Given the description of an element on the screen output the (x, y) to click on. 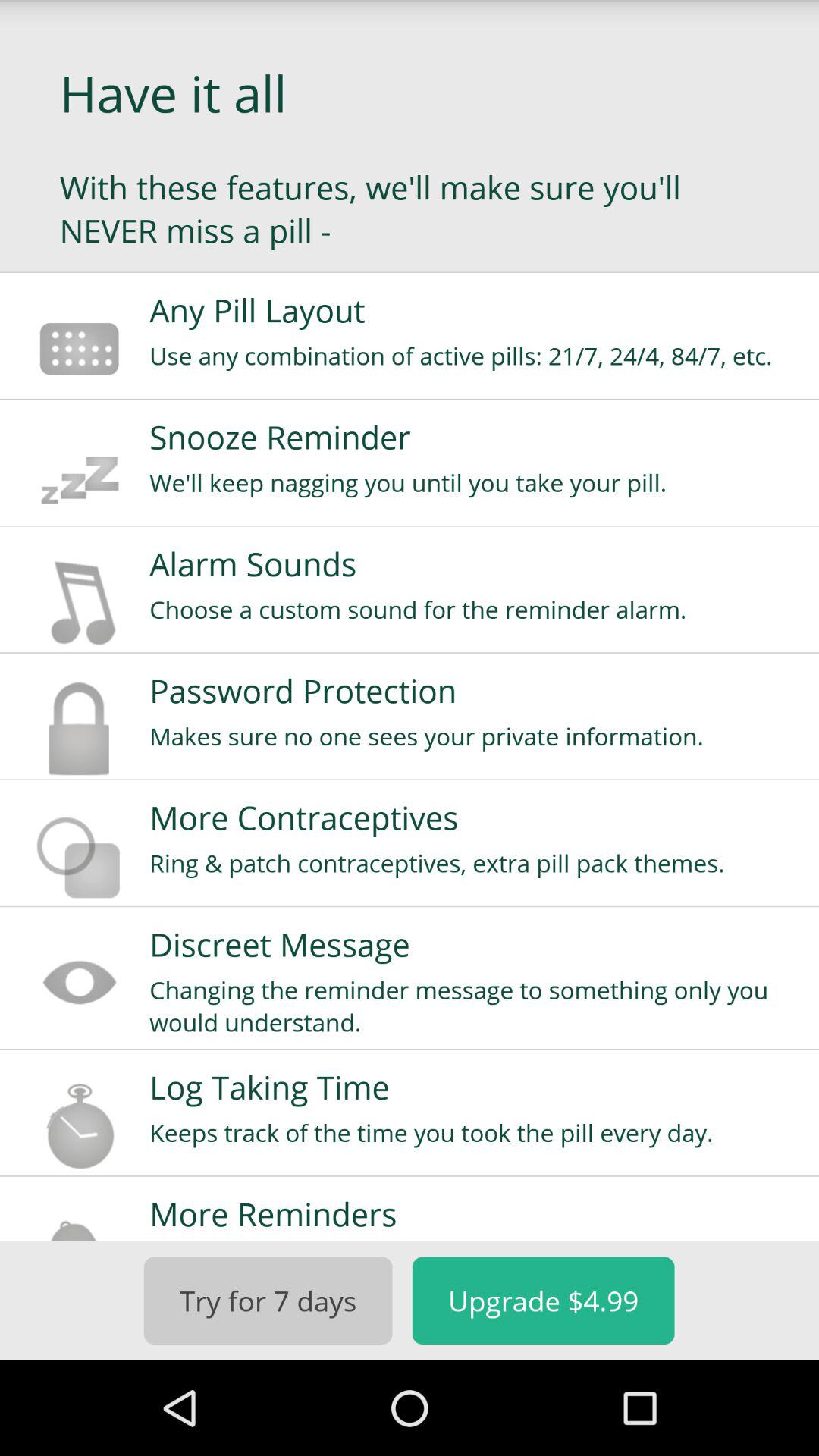
press the more contraceptives (474, 817)
